Given the description of an element on the screen output the (x, y) to click on. 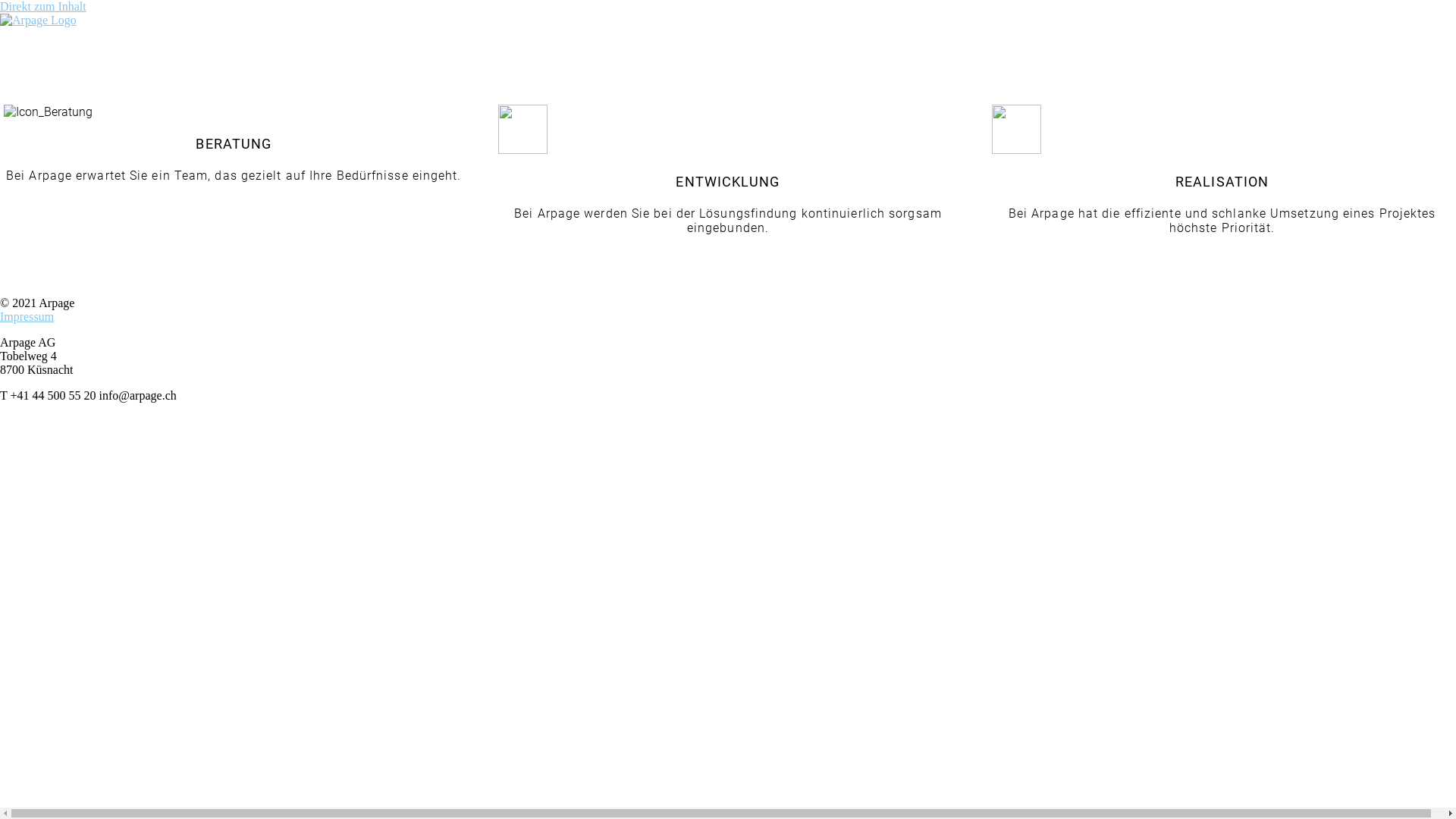
Impressum Element type: text (26, 316)
Direkt zum Inhalt Element type: text (43, 6)
